Given the description of an element on the screen output the (x, y) to click on. 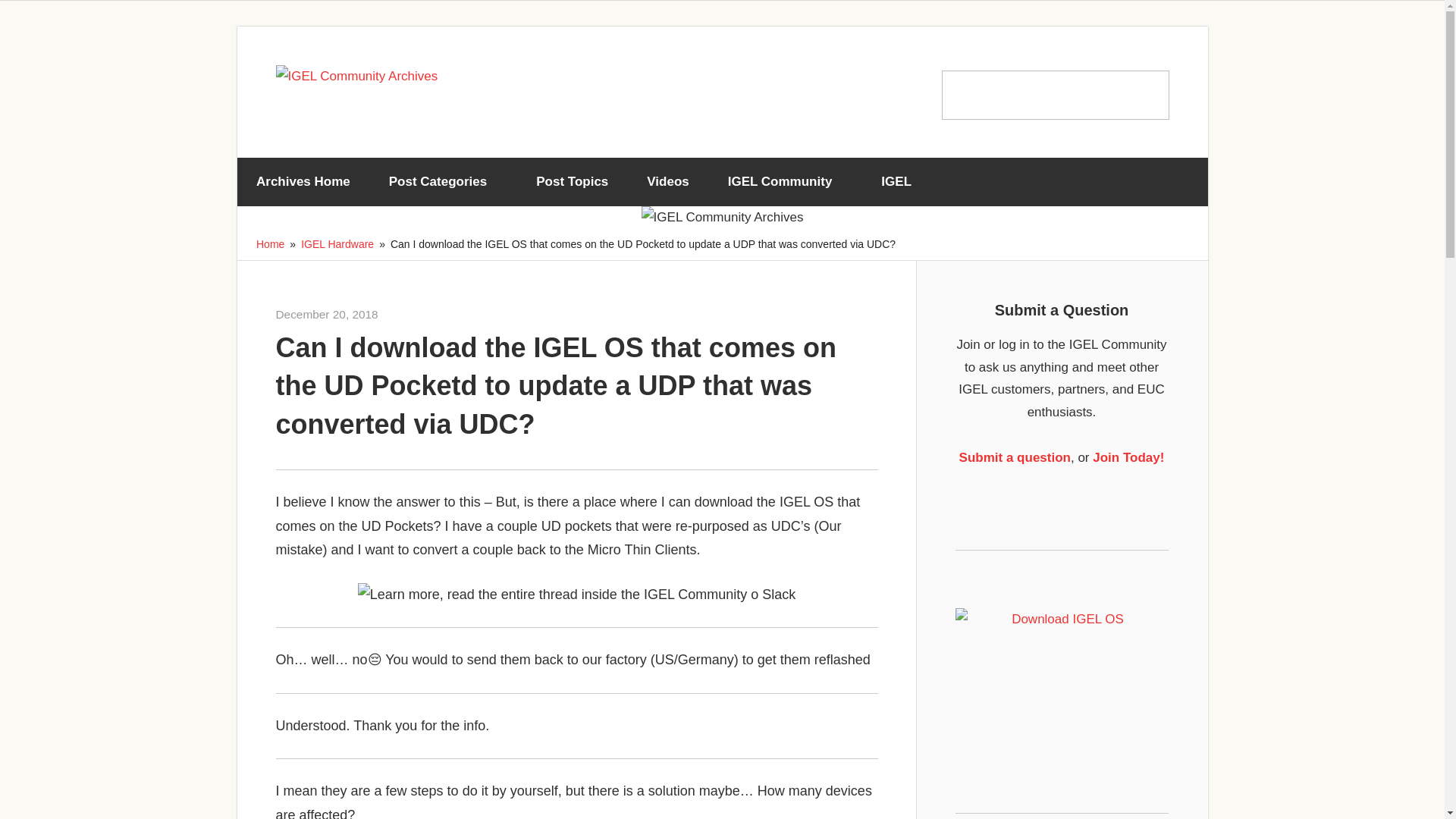
Post Topics (571, 182)
Archives Home (302, 182)
December 20, 2018 (327, 314)
IGEL Community (784, 182)
Post Categories (442, 182)
Download IGEL OS (1062, 670)
Home (269, 244)
7:14 pm (327, 314)
Videos (667, 182)
IGEL (901, 182)
